Given the description of an element on the screen output the (x, y) to click on. 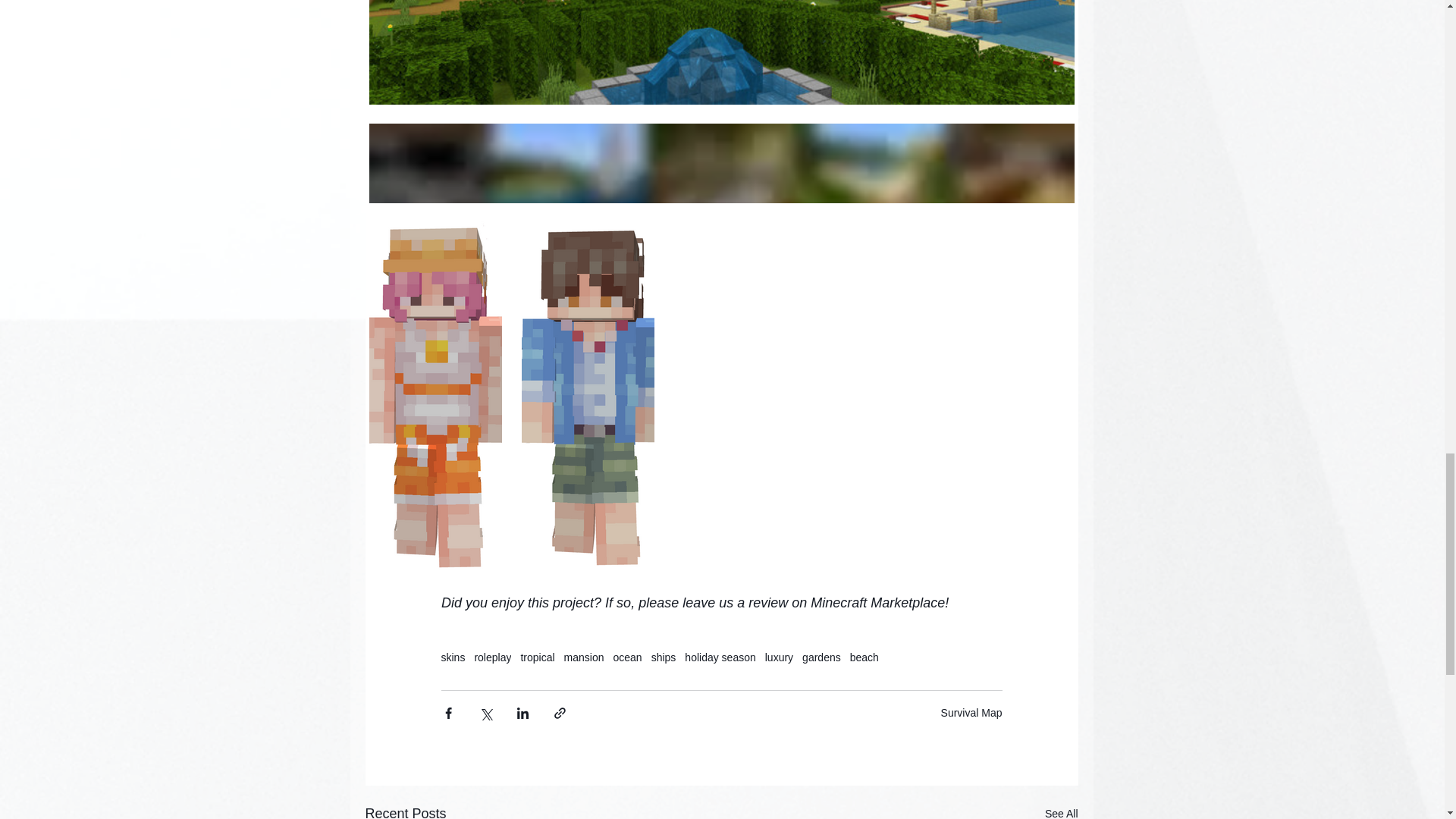
See All (1061, 811)
ships (663, 657)
Survival Map (971, 712)
ocean (627, 657)
mansion (584, 657)
tropical (536, 657)
holiday season (719, 657)
skins (453, 657)
luxury (779, 657)
roleplay (492, 657)
beach (864, 657)
gardens (821, 657)
